Given the description of an element on the screen output the (x, y) to click on. 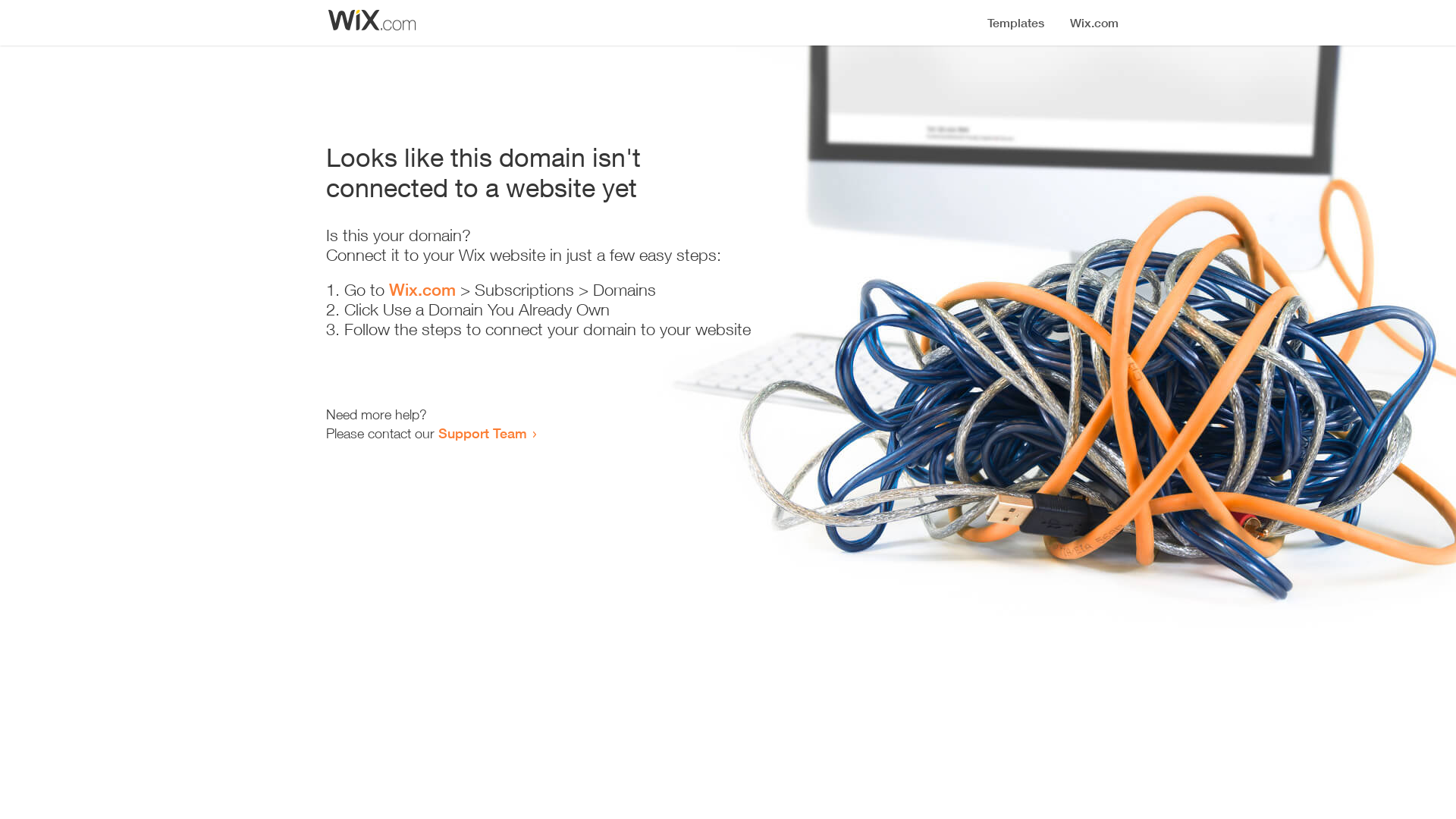
Wix.com Element type: text (422, 289)
Support Team Element type: text (482, 432)
